Given the description of an element on the screen output the (x, y) to click on. 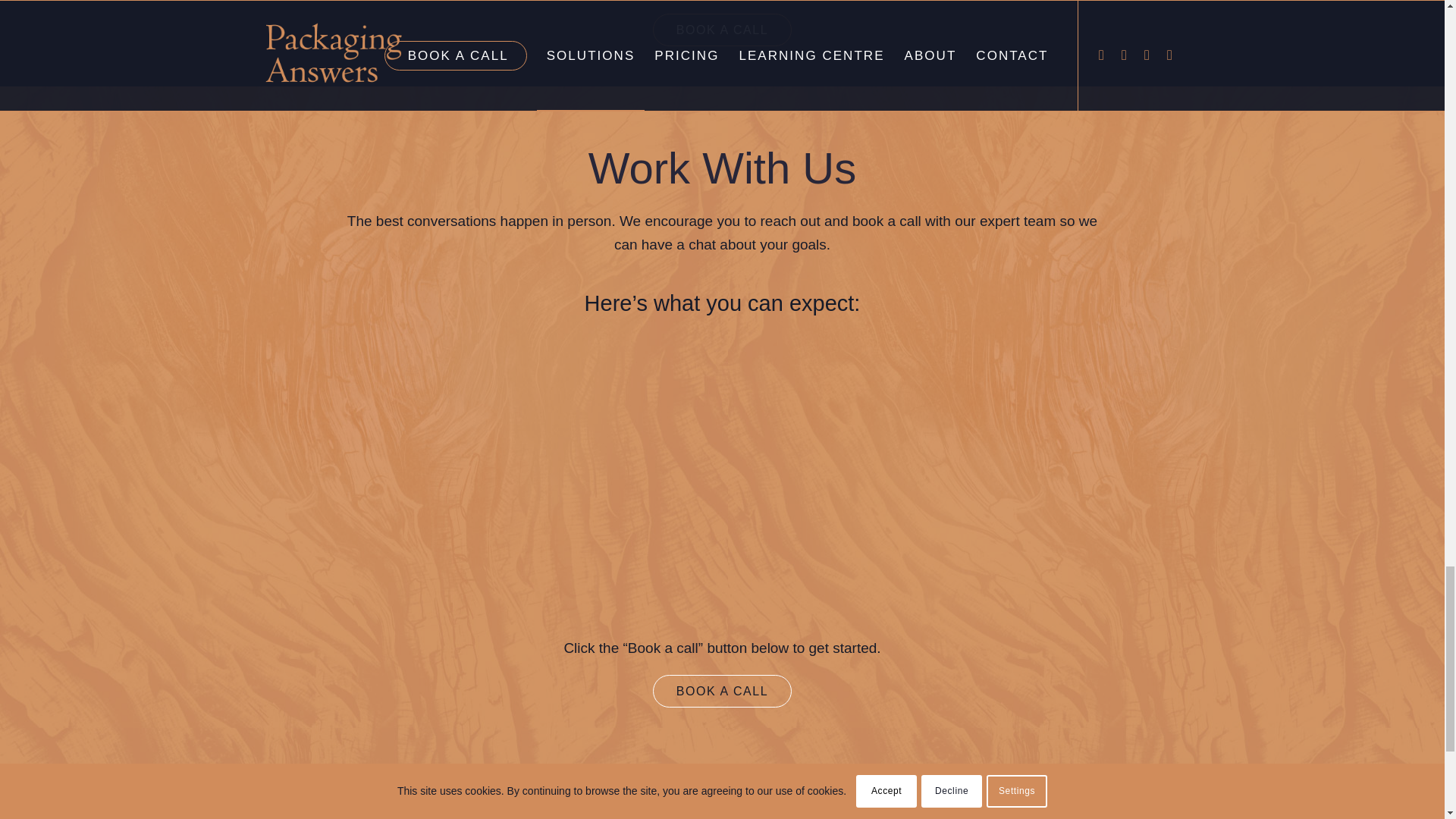
BOOK A CALL (722, 29)
BOOK A CALL (722, 690)
